Given the description of an element on the screen output the (x, y) to click on. 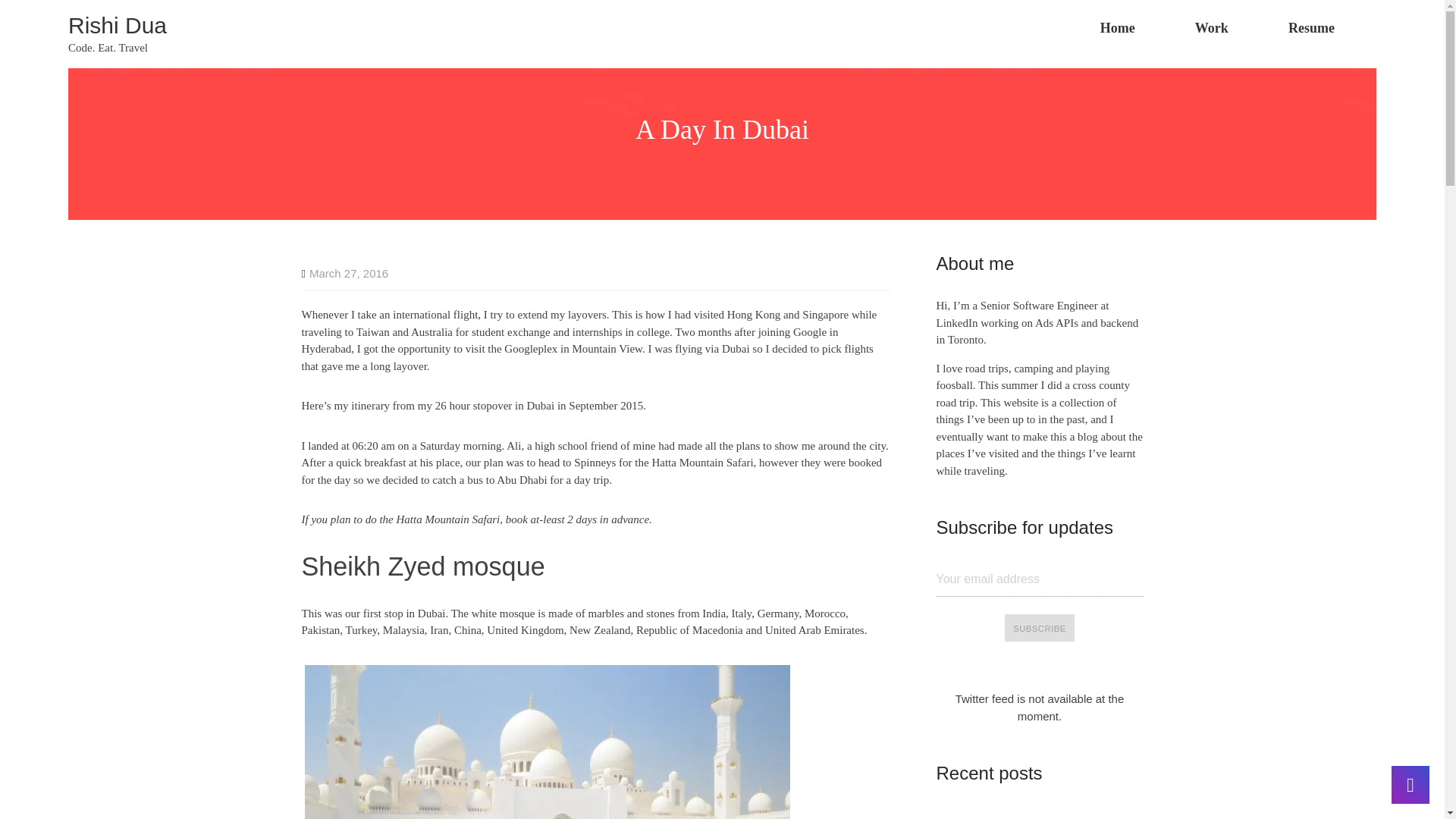
Resume (1310, 28)
Home (1117, 28)
March 27, 2016 (344, 273)
Rishi Dua (117, 25)
Subscribe (1039, 627)
Subscribe (1039, 627)
Work (1211, 28)
